Given the description of an element on the screen output the (x, y) to click on. 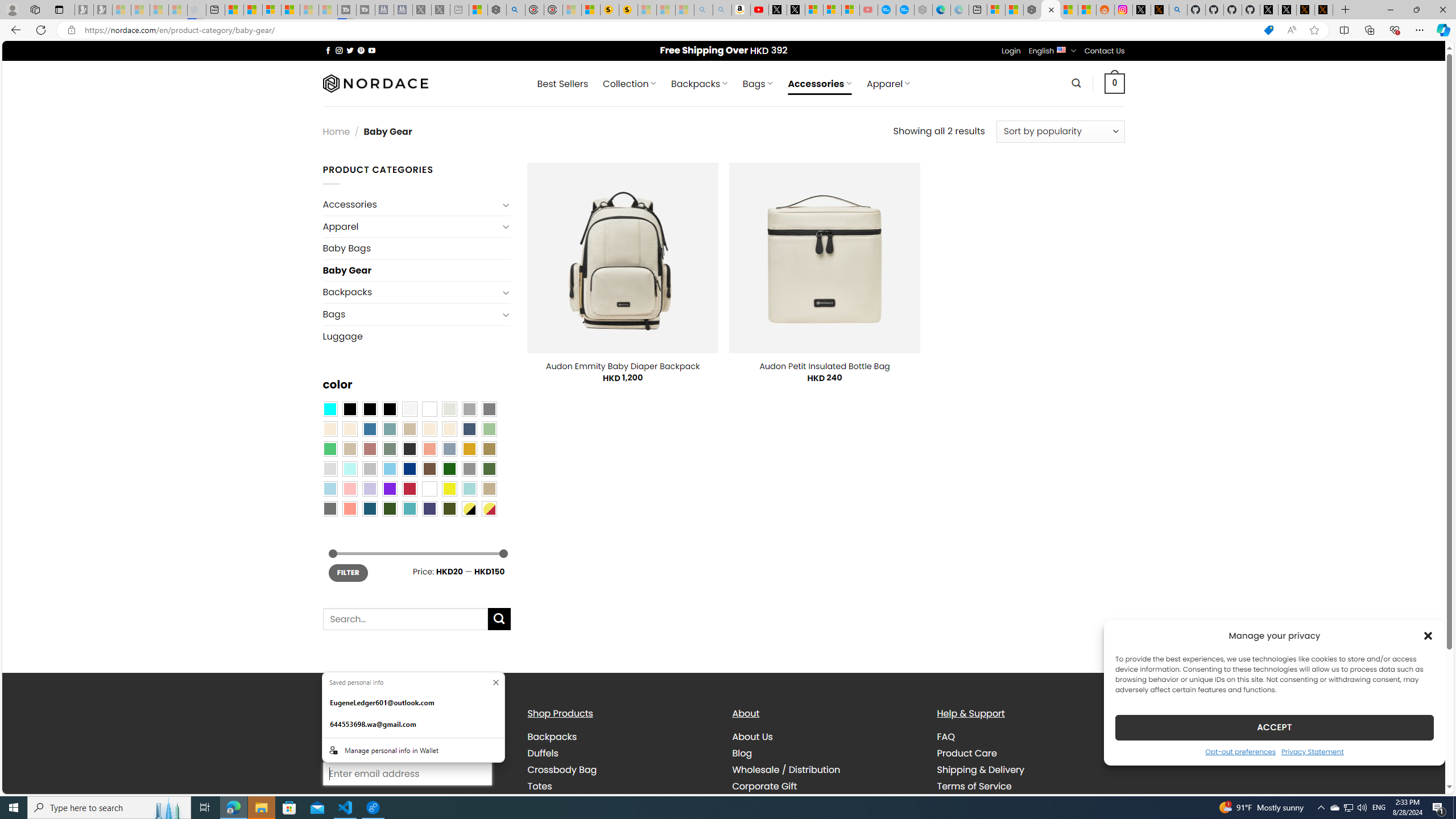
Log in to X / X (1142, 9)
Light Gray (329, 468)
Hale Navy (468, 428)
Bags (410, 314)
Shipping & Delivery (1030, 769)
Navy Blue (408, 468)
English (1061, 49)
